Given the description of an element on the screen output the (x, y) to click on. 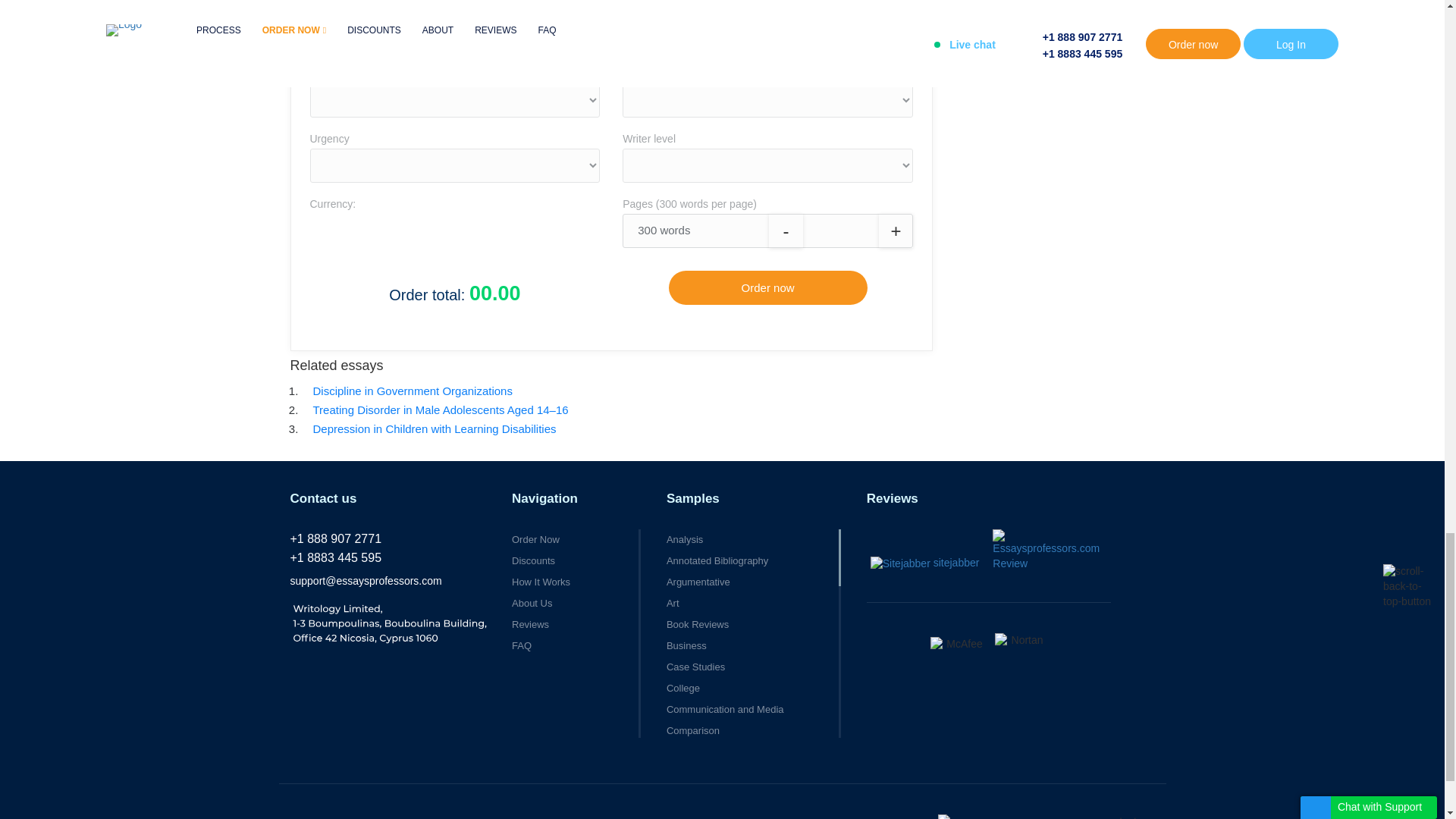
Order now (767, 287)
